Given the description of an element on the screen output the (x, y) to click on. 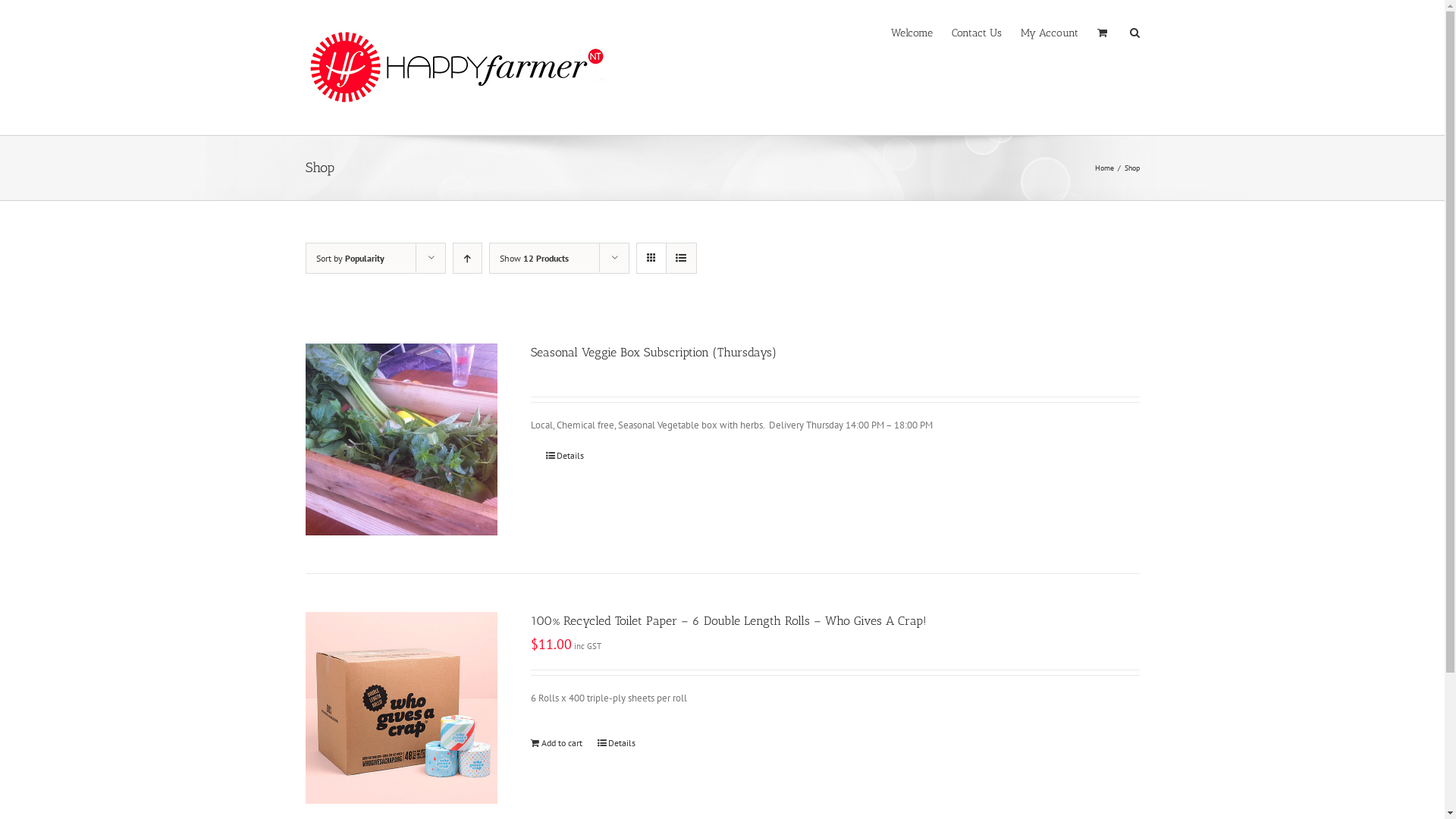
Sort by Popularity Element type: text (349, 257)
Home Element type: text (1104, 167)
Details Element type: text (564, 455)
Contact Us Element type: text (975, 31)
Search Element type: hover (1134, 31)
My Account Element type: text (1049, 31)
Details Element type: text (616, 742)
Welcome Element type: text (910, 31)
Seasonal Veggie Box Subscription (Thursdays) Element type: text (653, 352)
Show 12 Products Element type: text (532, 257)
Add to cart Element type: text (556, 742)
